Given the description of an element on the screen output the (x, y) to click on. 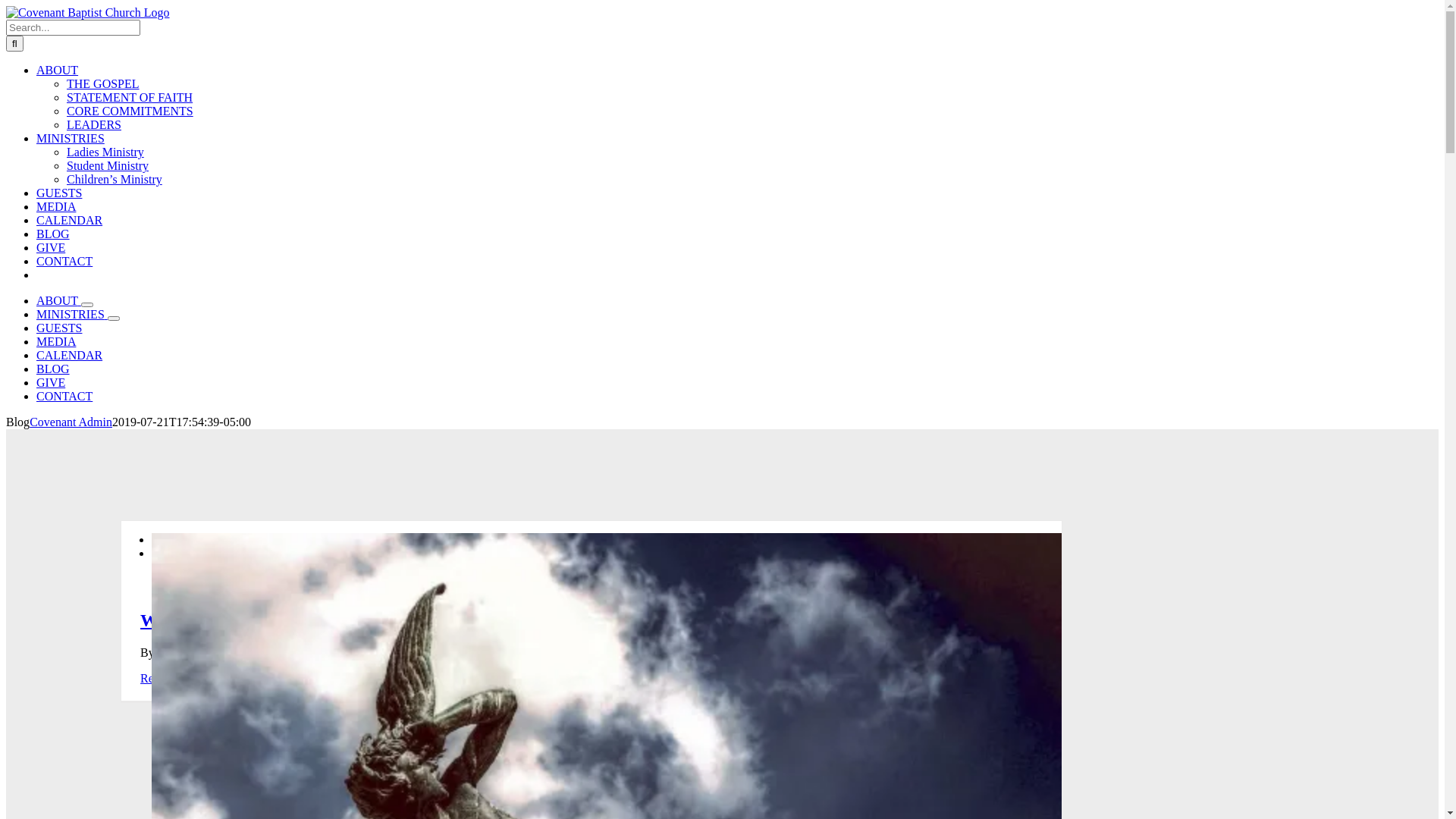
Covenant Admin Element type: text (70, 421)
MINISTRIES Element type: text (71, 313)
Interpretation Element type: text (427, 652)
GIVE Element type: text (50, 382)
ABOUT Element type: text (58, 300)
STATEMENT OF FAITH Element type: text (129, 97)
Devil Element type: text (375, 652)
MEDIA Element type: text (55, 341)
Chris Trousdale Element type: text (196, 652)
LEADERS Element type: text (93, 124)
ABOUT Element type: text (57, 69)
GIVE Element type: text (50, 247)
BLOG Element type: text (52, 233)
CALENDAR Element type: text (69, 354)
GUESTS Element type: text (58, 327)
Student Ministry Element type: text (107, 165)
Read More Element type: text (167, 677)
Skip to content Element type: text (5, 5)
BLOG Element type: text (52, 368)
GUESTS Element type: text (58, 192)
Ladies Ministry Element type: text (105, 151)
MINISTRIES Element type: text (70, 137)
THE GOSPEL Element type: text (102, 83)
CONTACT Element type: text (64, 260)
Who is Lucifer? Element type: text (202, 620)
MEDIA Element type: text (55, 206)
CALENDAR Element type: text (69, 219)
Satan Element type: text (479, 652)
CORE COMMITMENTS Element type: text (129, 110)
CONTACT Element type: text (64, 395)
